Given the description of an element on the screen output the (x, y) to click on. 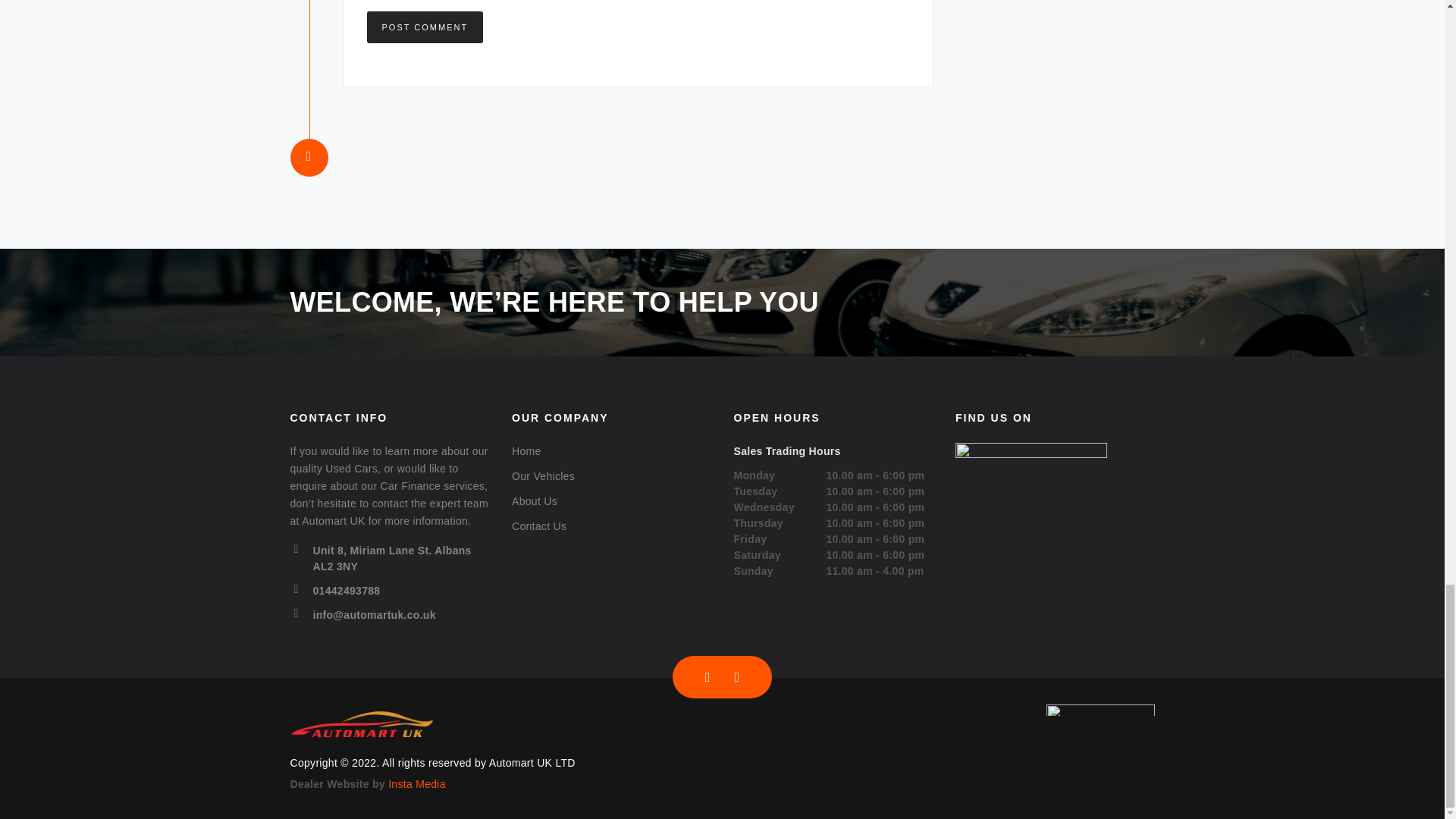
Post Comment (424, 27)
Post Comment (424, 27)
